Given the description of an element on the screen output the (x, y) to click on. 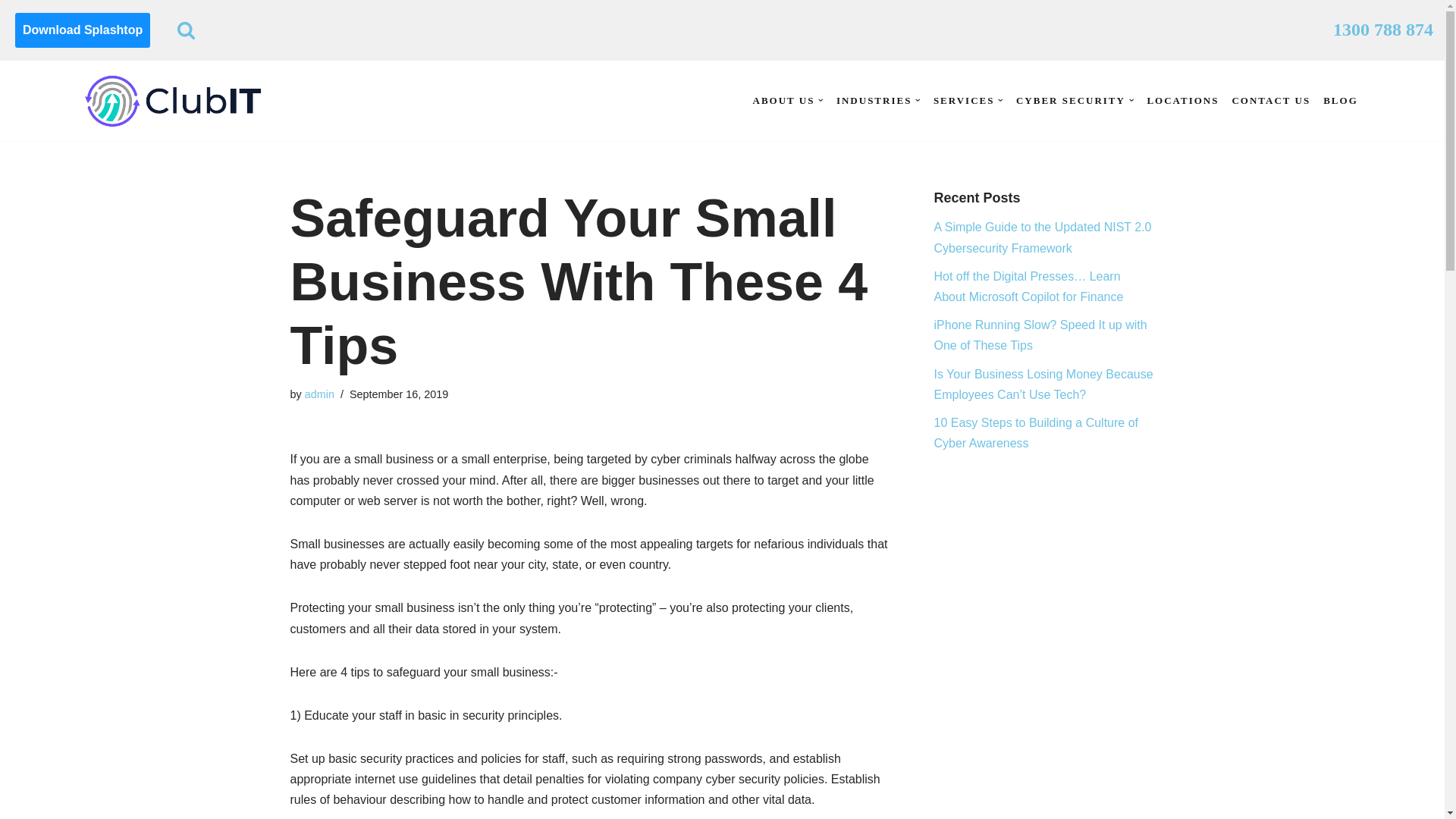
ClubIT (172, 100)
Skip to content (11, 31)
ABOUT US (783, 99)
1300 788 874 (1382, 30)
Posts by admin (319, 394)
INDUSTRIES (873, 99)
SERVICES (963, 99)
CYBER SECURITY (1070, 99)
Download Splashtop (81, 30)
